Given the description of an element on the screen output the (x, y) to click on. 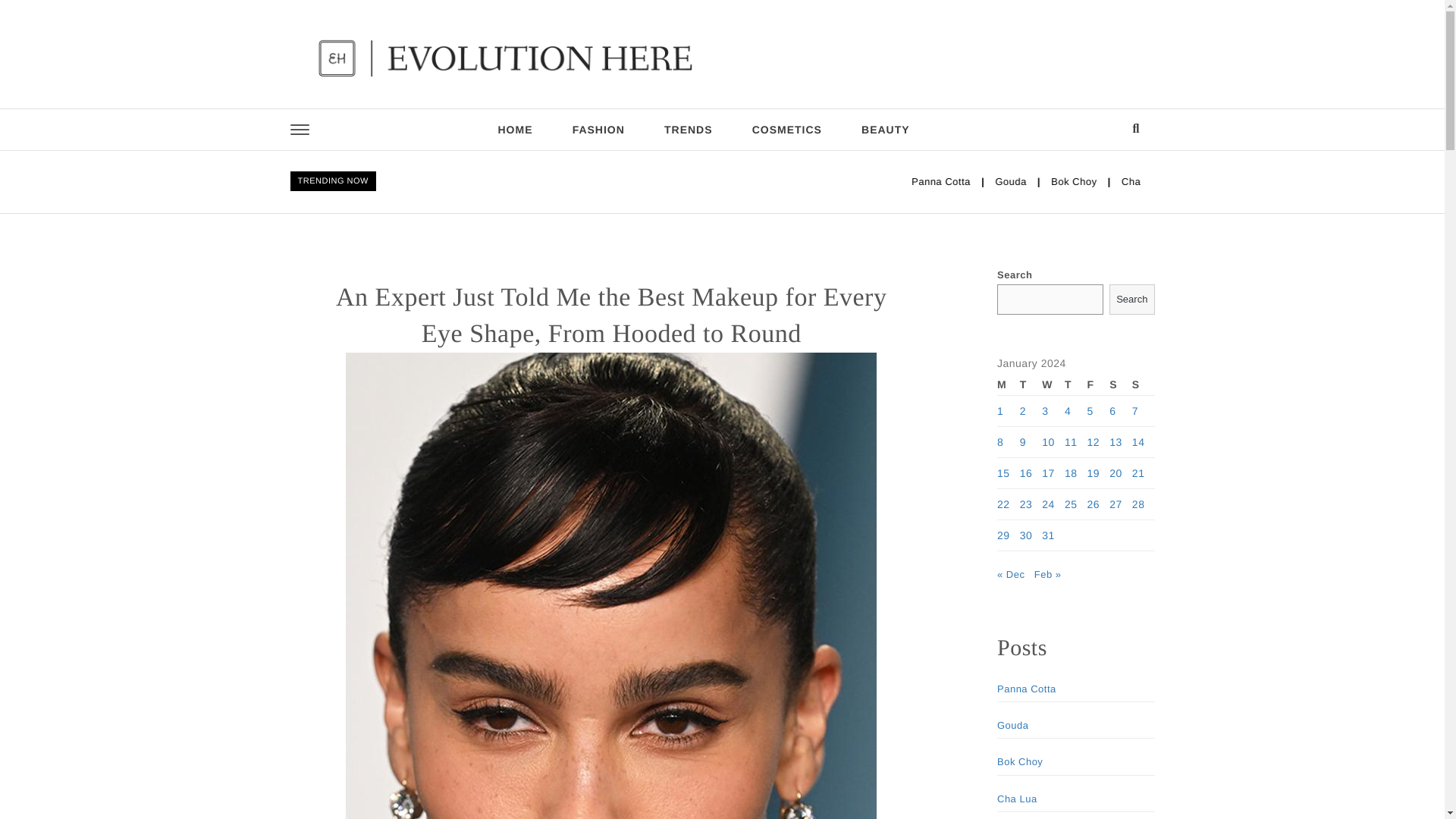
Saturday (1120, 384)
Gouda (1161, 181)
Search (1131, 299)
TRENDS (688, 128)
Cha Lua (1283, 181)
Friday (1098, 384)
Panna Cotta (1094, 181)
Monday (1008, 384)
